Given the description of an element on the screen output the (x, y) to click on. 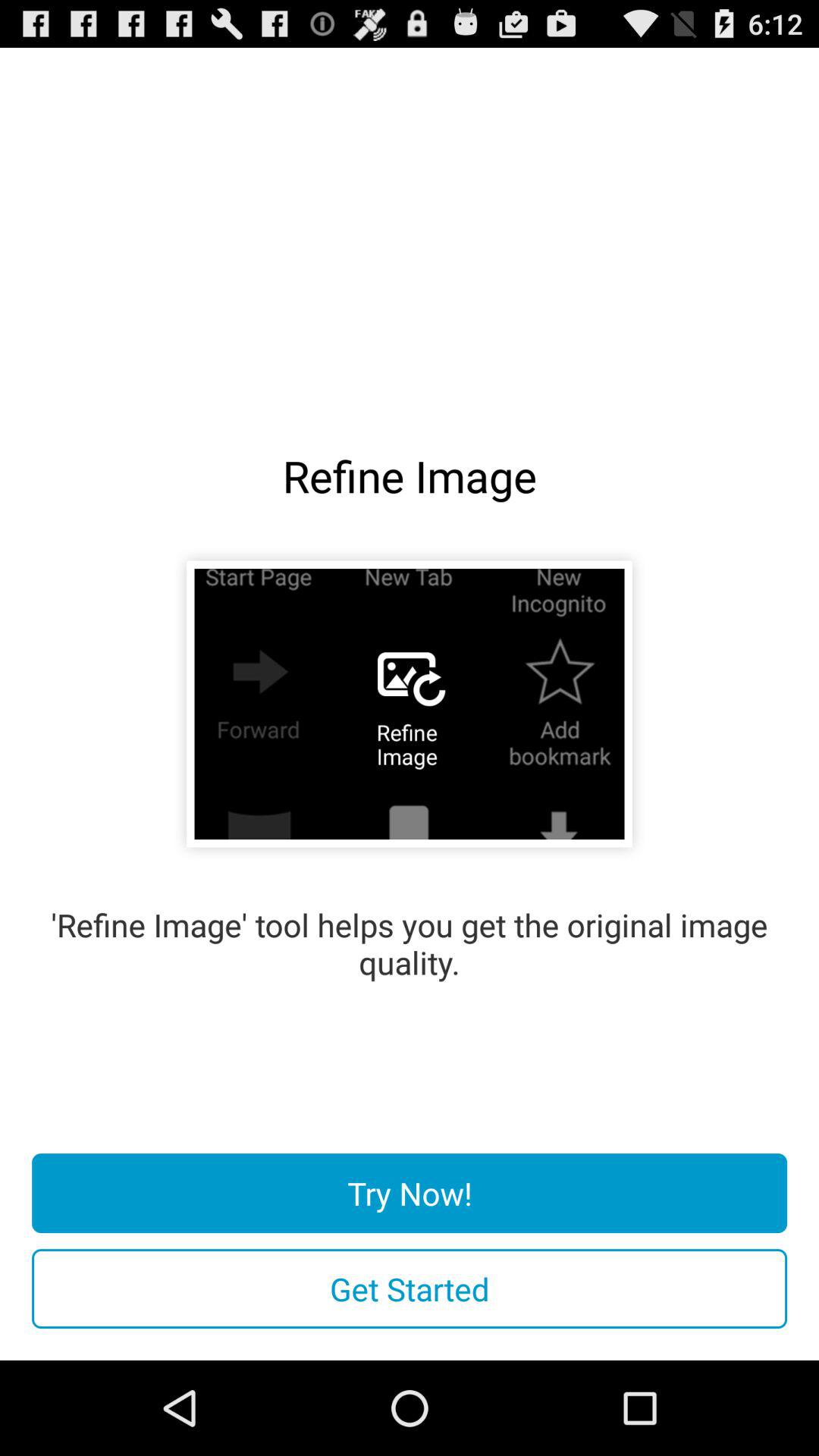
select the item below try now! button (409, 1288)
